Given the description of an element on the screen output the (x, y) to click on. 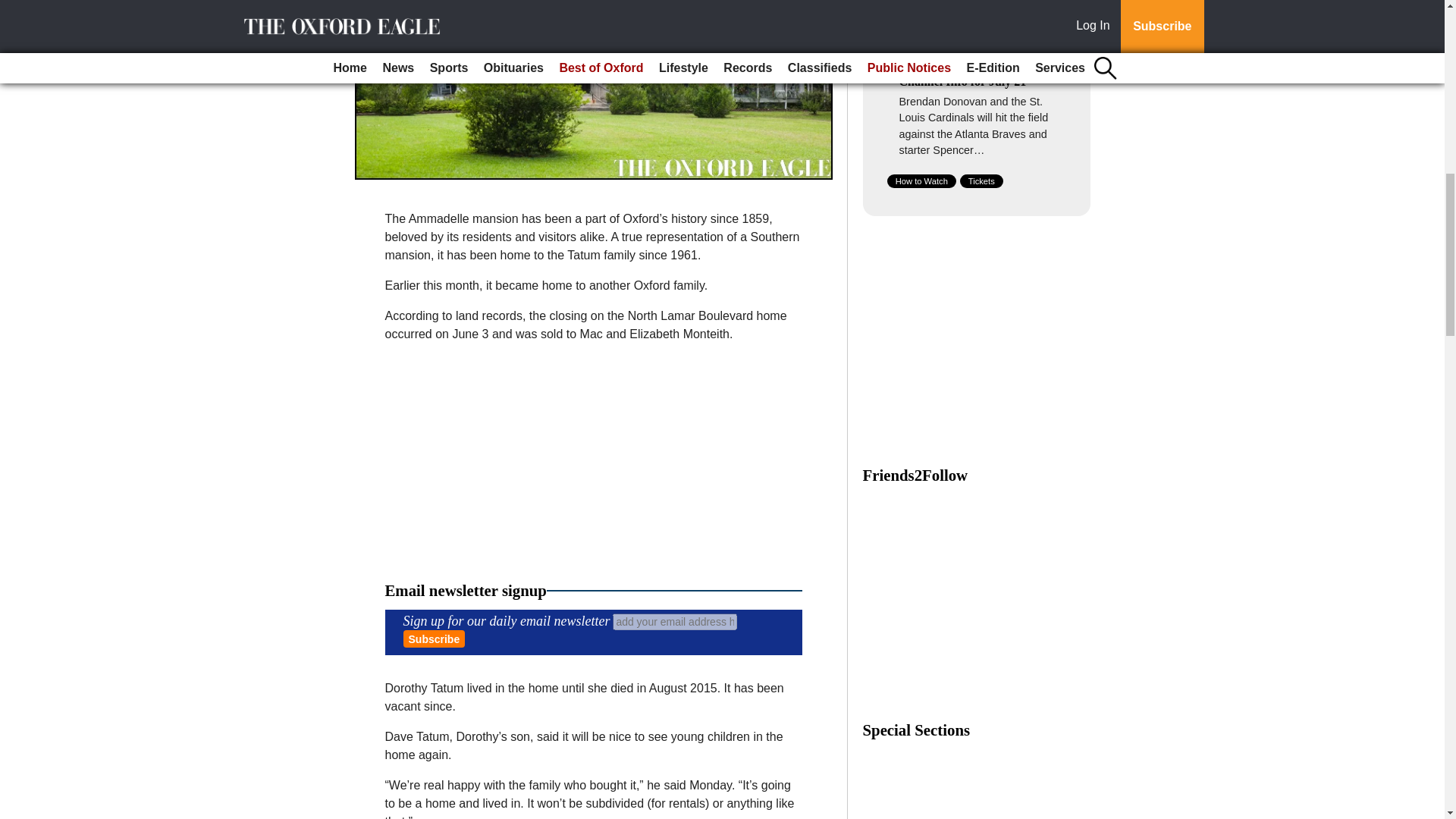
How to Watch (921, 181)
Subscribe (434, 638)
Subscribe (434, 638)
